Given the description of an element on the screen output the (x, y) to click on. 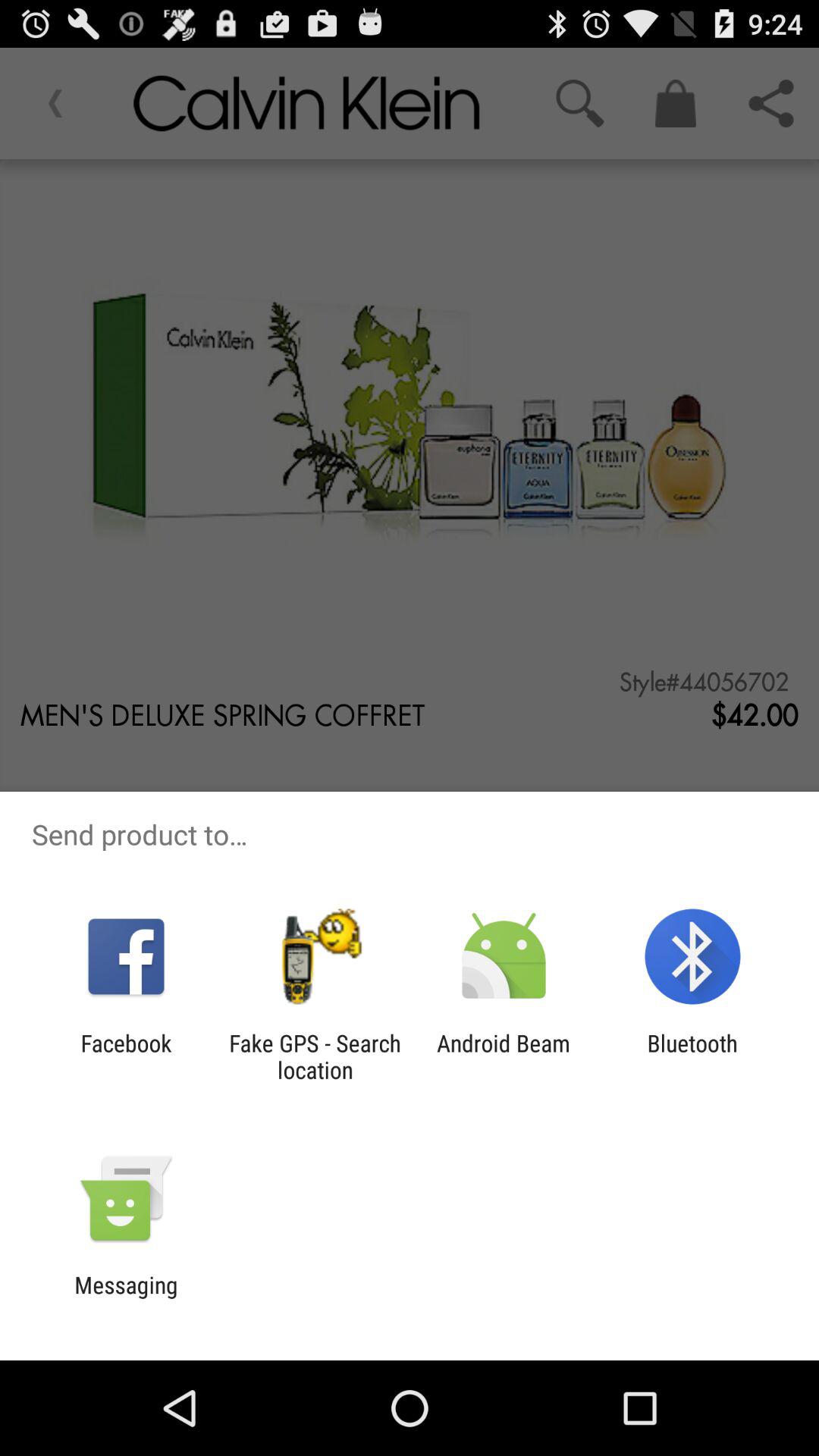
swipe to android beam icon (503, 1056)
